Given the description of an element on the screen output the (x, y) to click on. 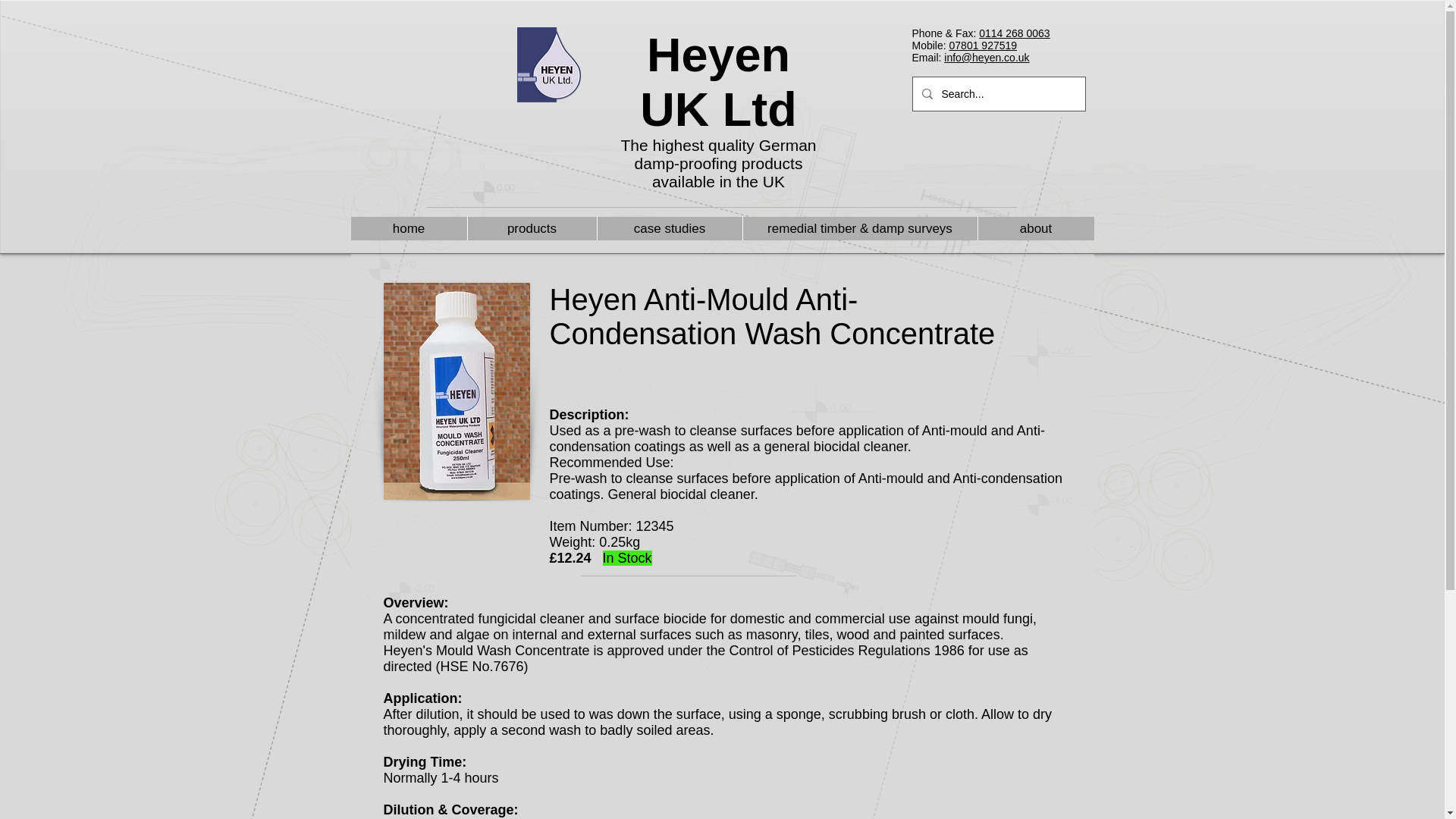
0114 268 0063 (1013, 33)
case studies (668, 228)
products (531, 228)
07801 927519 (983, 45)
about (1034, 228)
Heyen UK Ltd (718, 81)
home (407, 228)
